Given the description of an element on the screen output the (x, y) to click on. 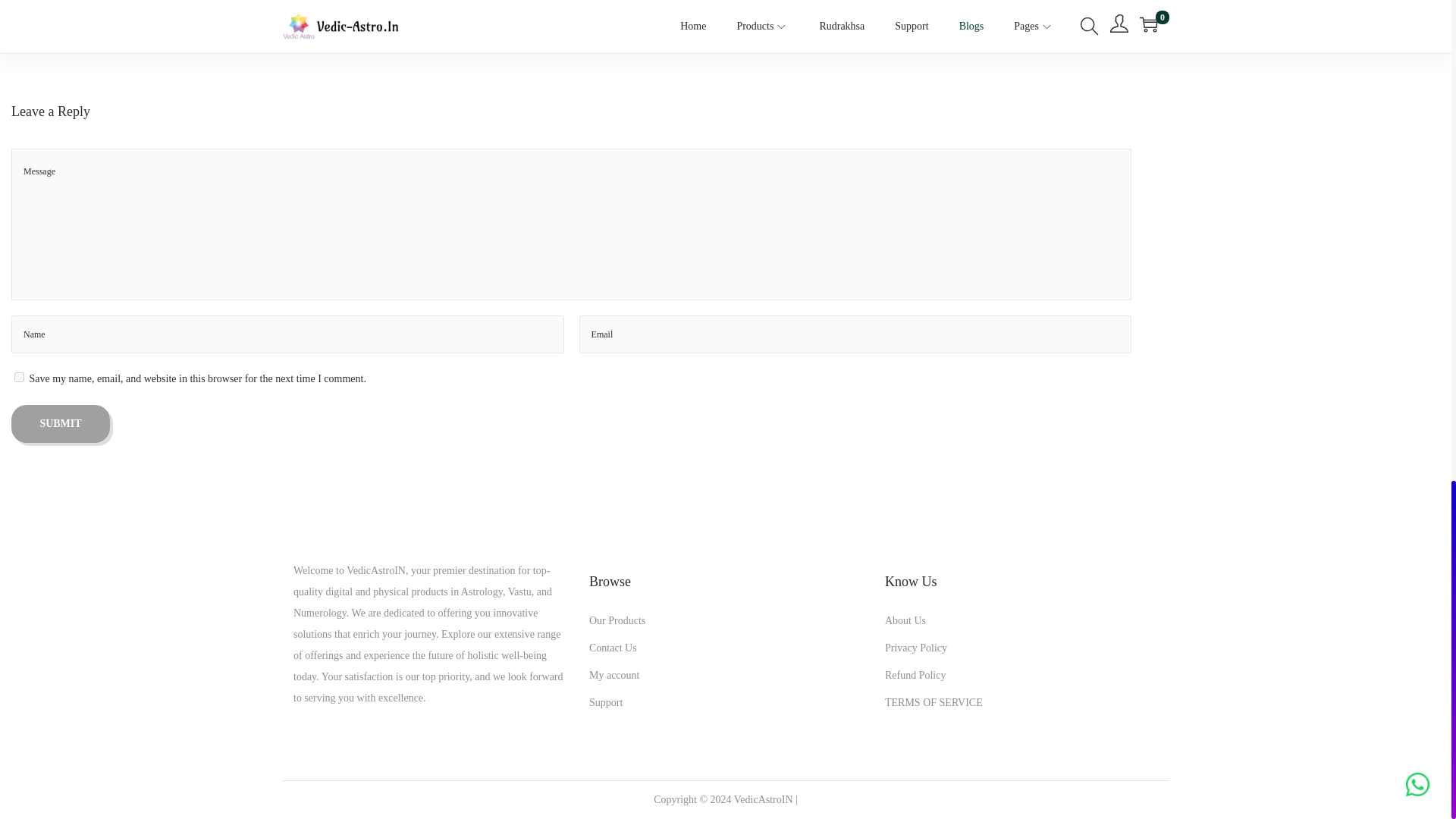
yes (19, 377)
Submit (60, 423)
